Given the description of an element on the screen output the (x, y) to click on. 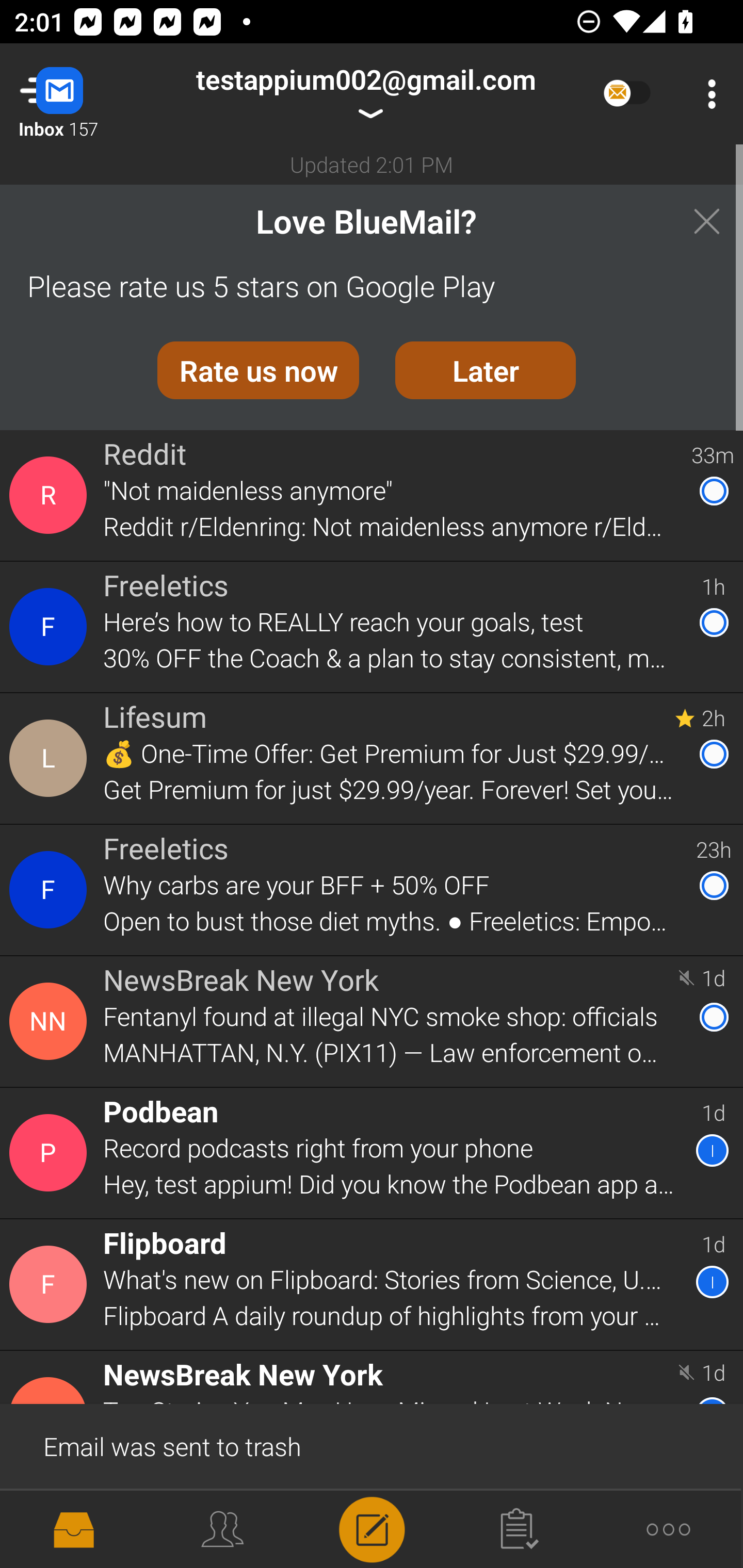
Navigate up (81, 93)
testappium002@gmail.com (365, 93)
More Options (706, 93)
Updated 2:01 PM (371, 164)
Rate us now (257, 370)
Later (485, 370)
Contact Details (50, 495)
Contact Details (50, 626)
Contact Details (50, 758)
Contact Details (50, 889)
Contact Details (50, 1021)
Contact Details (50, 1153)
Contact Details (50, 1284)
Email was sent to trash (371, 1445)
Compose (371, 1528)
